Given the description of an element on the screen output the (x, y) to click on. 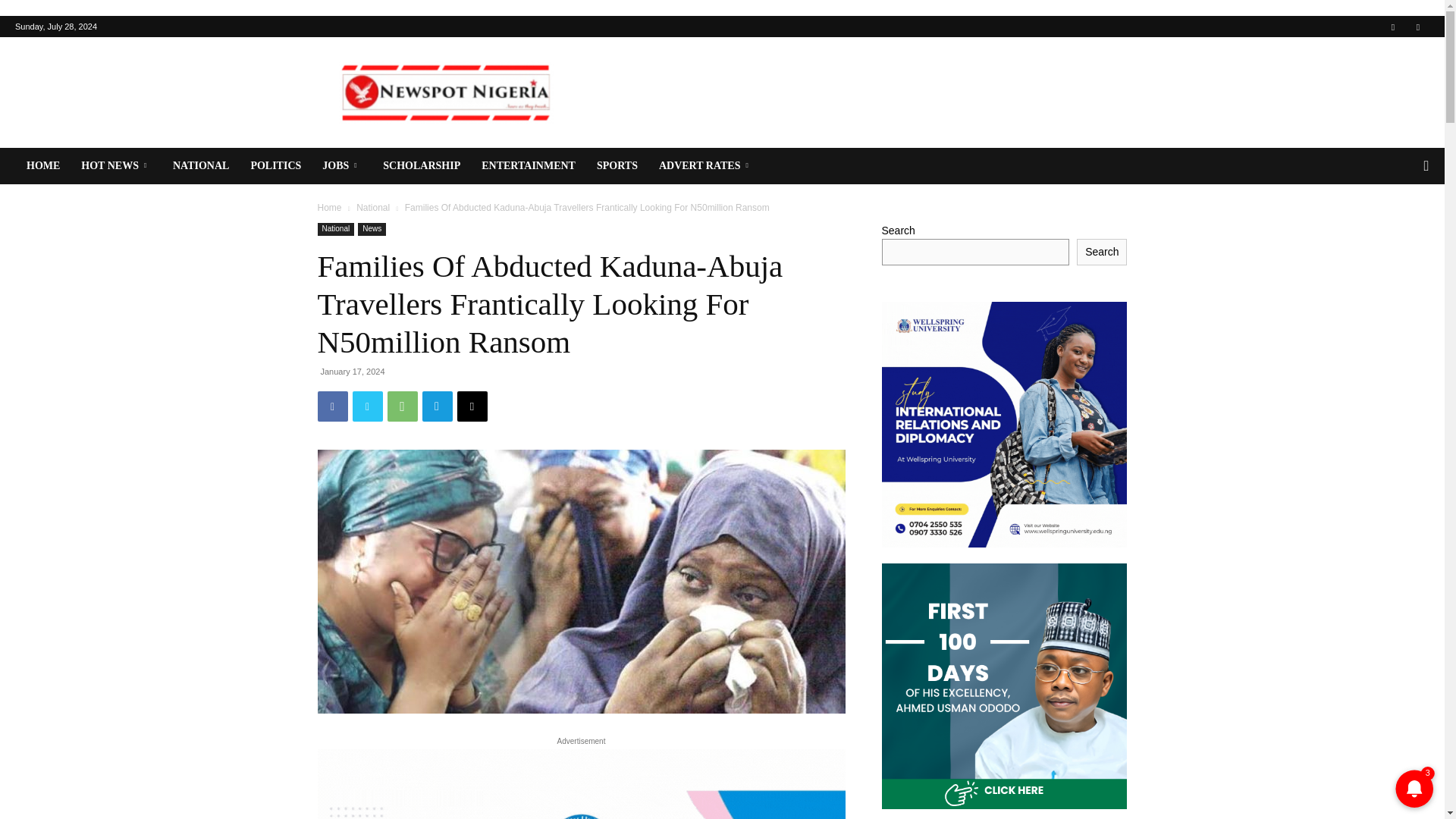
Facebook (1393, 25)
ENTERTAINMENT (528, 166)
Twitter (1417, 25)
View all posts in National (373, 207)
Telegram (436, 406)
HOME (42, 166)
WhatsApp (401, 406)
JOBS (341, 166)
SCHOLARSHIP (421, 166)
Twitter (366, 406)
Facebook (332, 406)
POLITICS (275, 166)
NEWSPOT NIGERIA (445, 92)
Home (328, 207)
